Given the description of an element on the screen output the (x, y) to click on. 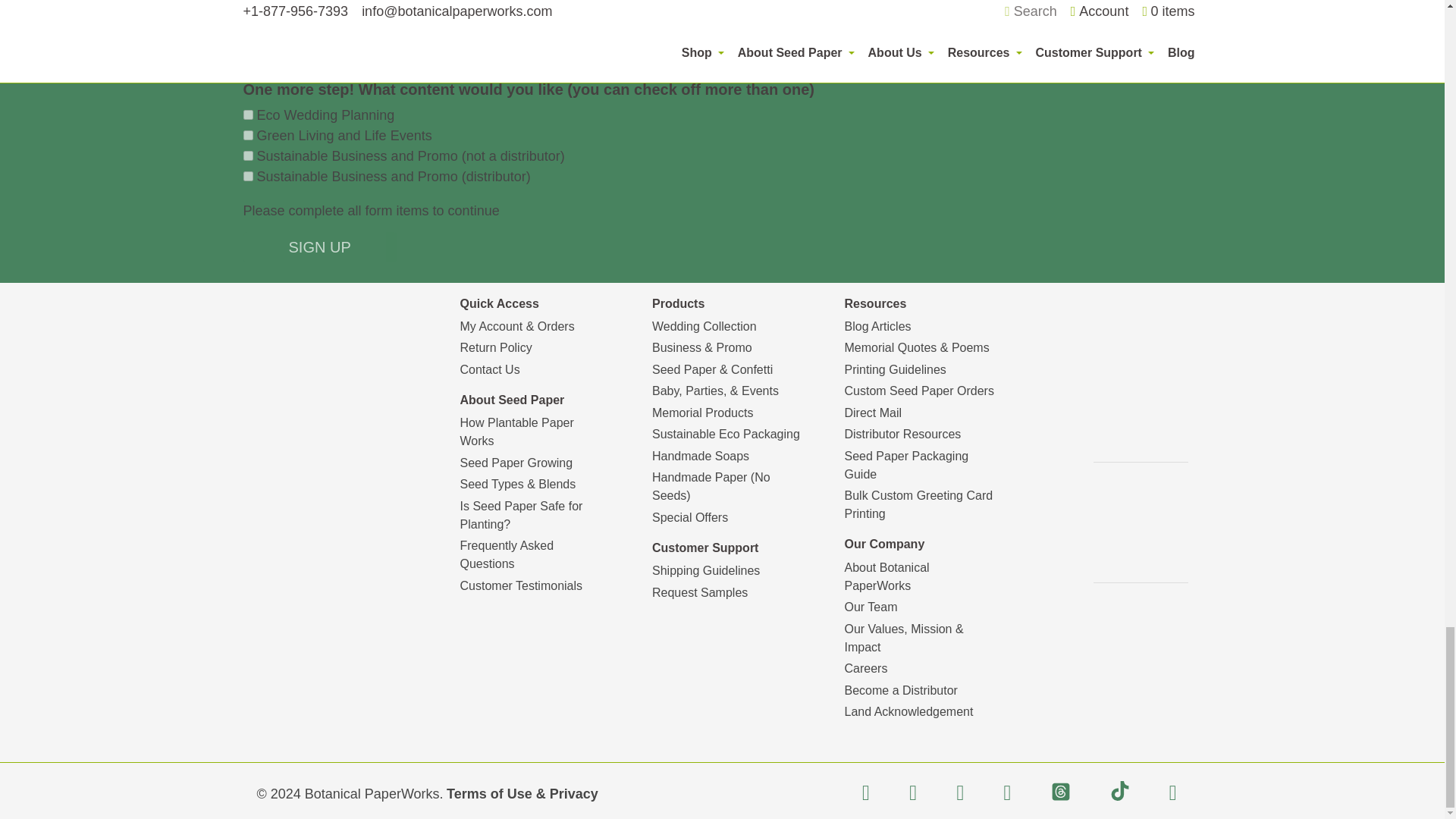
b3a7c6e35e (247, 175)
ffe58d4ca5 (247, 135)
Sign up (319, 246)
f8bb024828 (247, 155)
de72e68fef (247, 114)
